Given the description of an element on the screen output the (x, y) to click on. 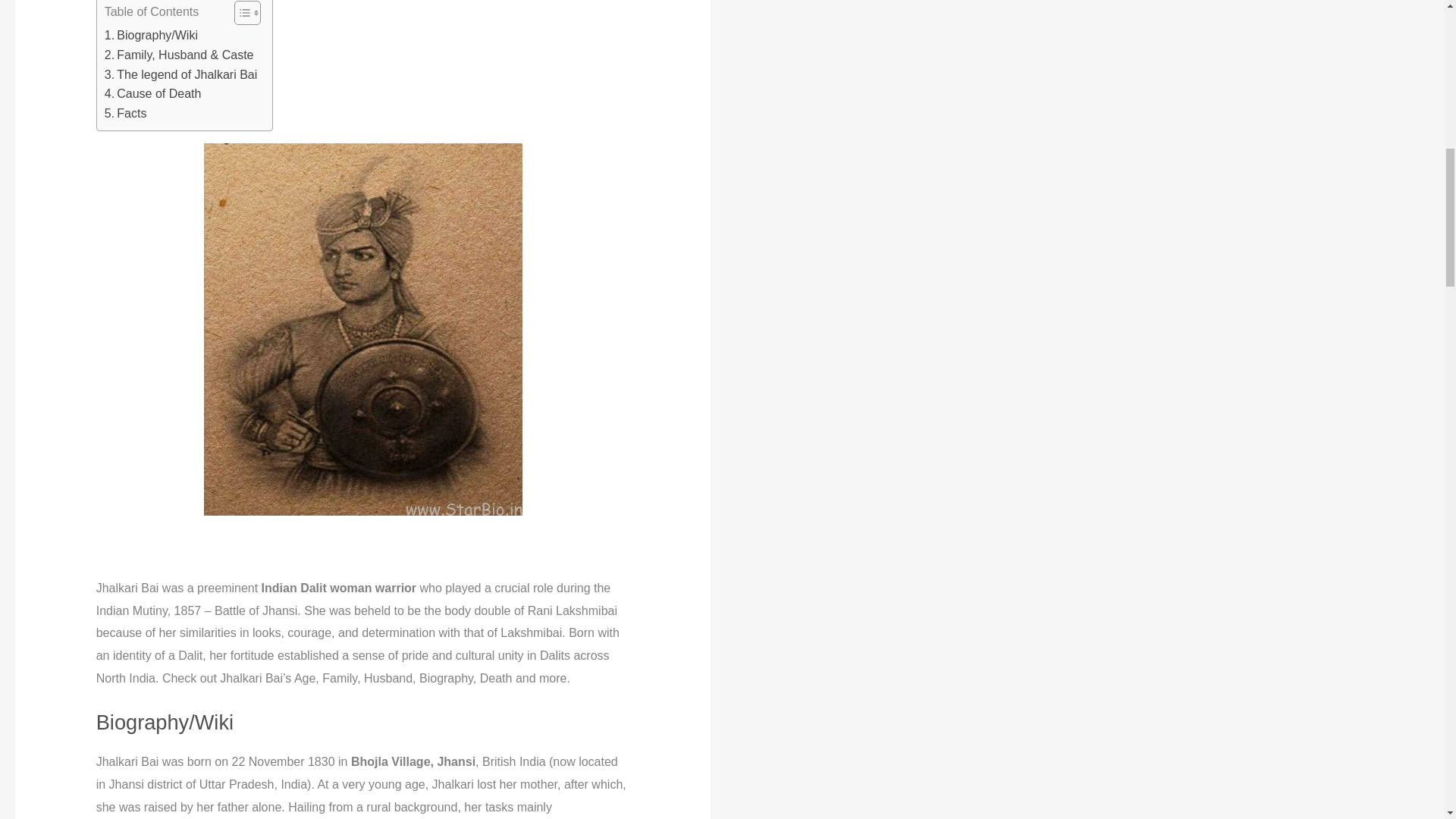
Cause of Death (153, 94)
Facts (125, 113)
The legend of Jhalkari Bai (180, 75)
Cause of Death (153, 94)
Facts (125, 113)
